Given the description of an element on the screen output the (x, y) to click on. 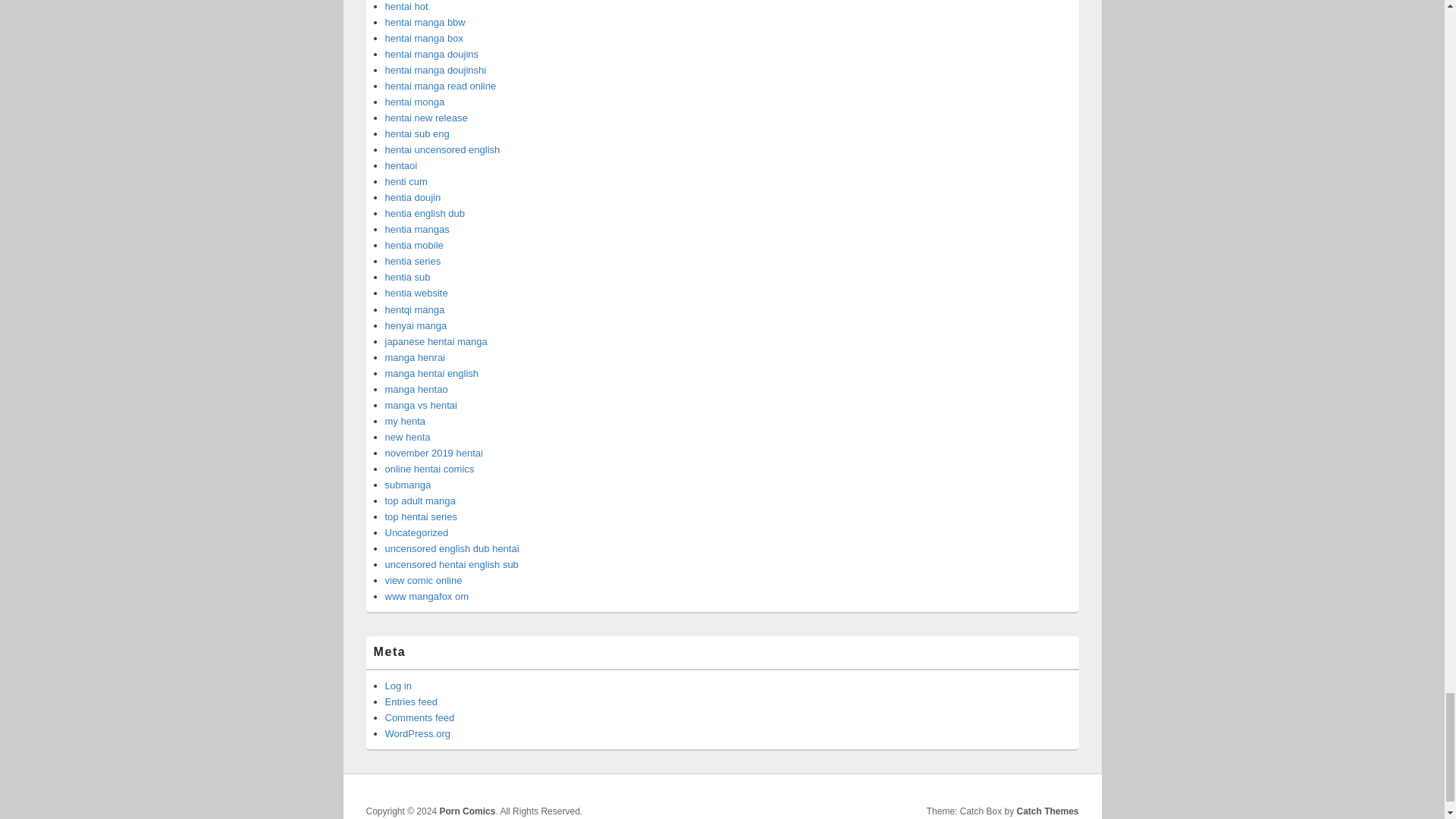
Porn Comics (467, 810)
Catch Themes (1047, 810)
